Given the description of an element on the screen output the (x, y) to click on. 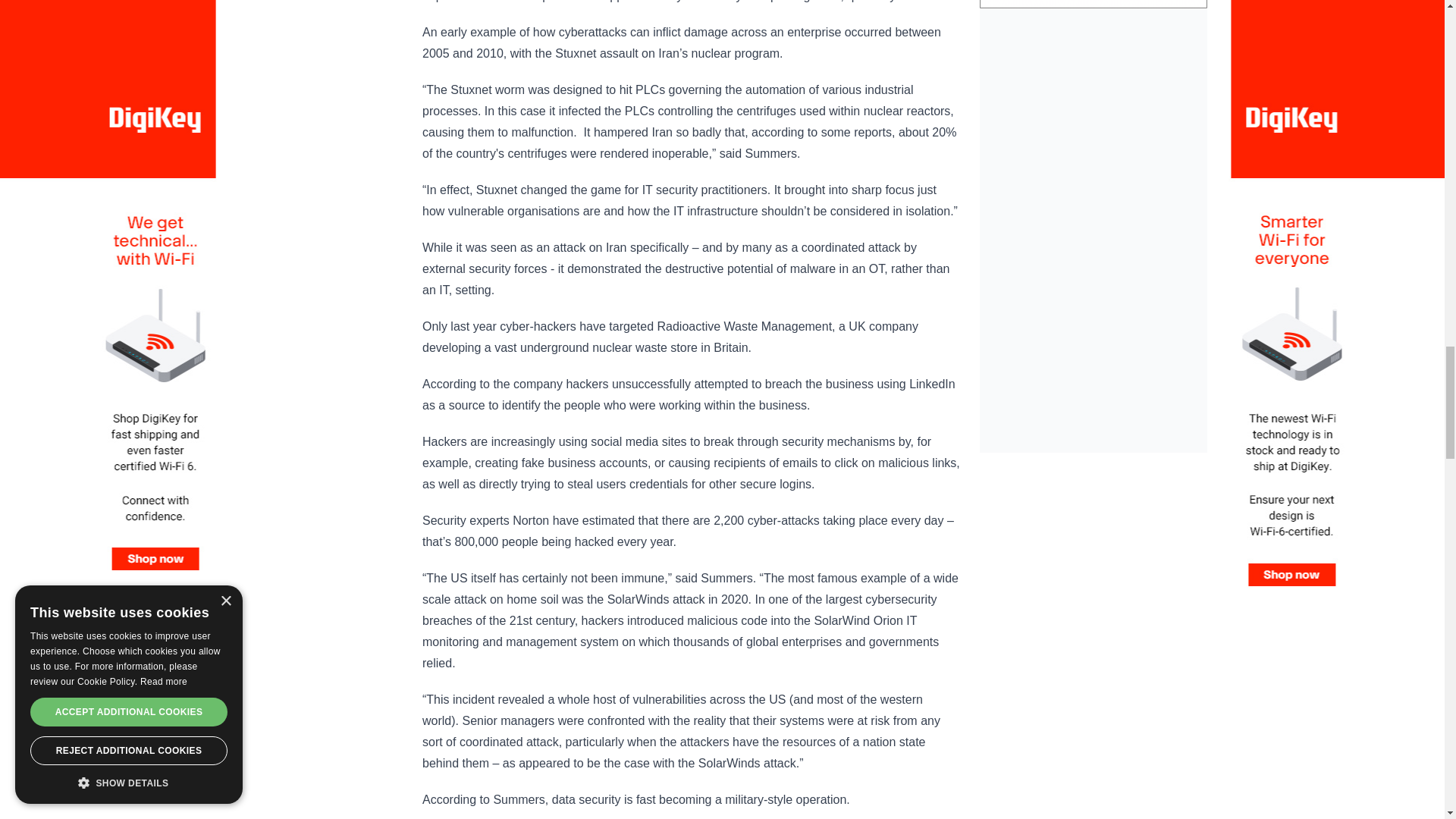
3rd party ad content (1093, 4)
